Given the description of an element on the screen output the (x, y) to click on. 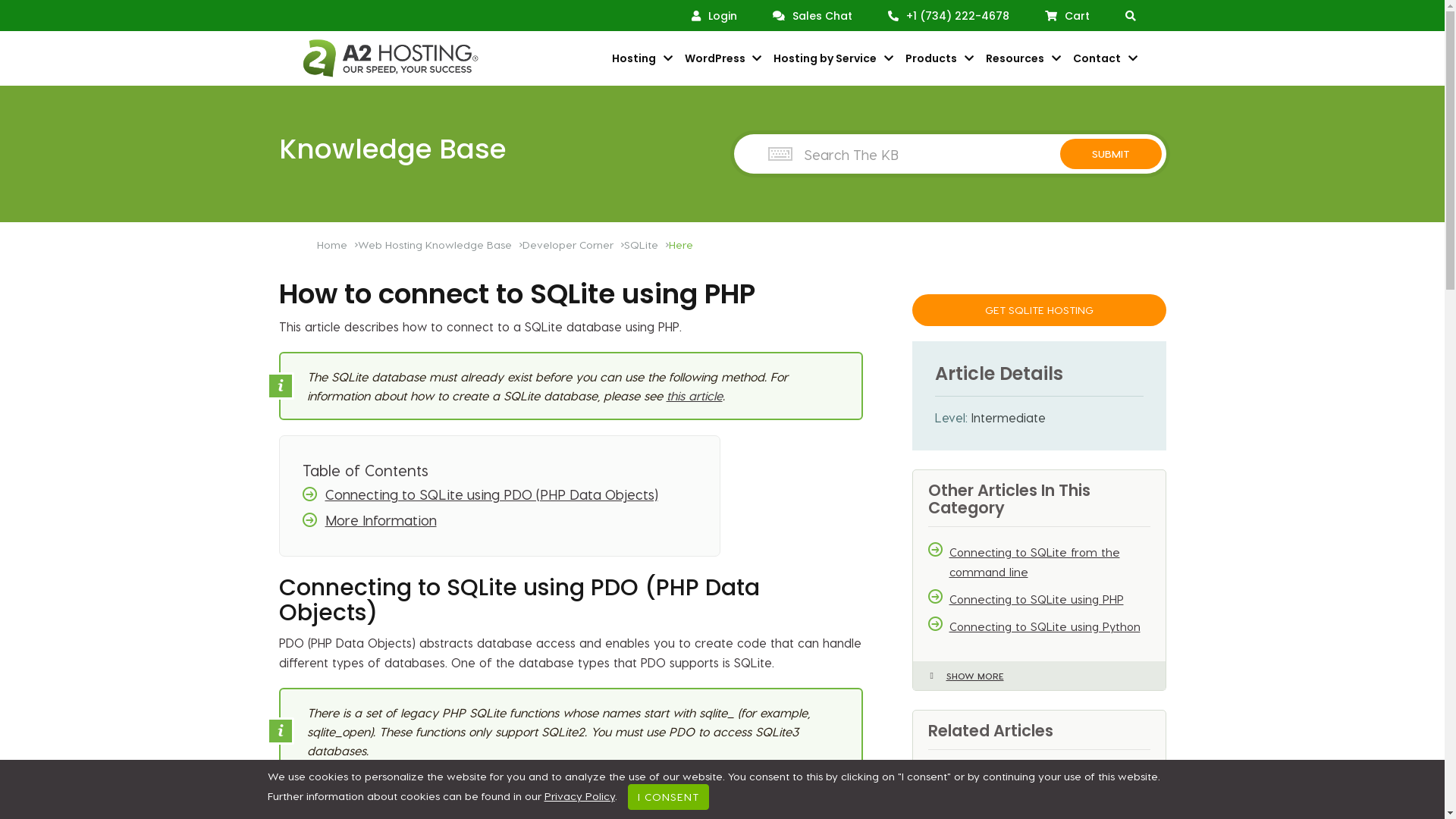
Connecting to SQLite from the command line Element type: text (1049, 784)
Sales Chat Element type: text (811, 15)
Privacy Policy Element type: text (579, 795)
Cart Element type: text (1066, 15)
Web Hosting Knowledge Base Element type: text (439, 244)
Connecting to SQLite using PDO (PHP Data Objects) Element type: text (510, 494)
Connecting to SQLite using PHP Element type: text (1049, 598)
Search on A2hosting Element type: hover (1130, 15)
Submit Element type: text (1110, 153)
SHOW MORE Element type: text (1039, 675)
Home Element type: text (336, 244)
Connecting to SQLite from the command line Element type: text (1049, 561)
GET SQLITE HOSTING Element type: text (1038, 310)
Connecting to SQLite using Python Element type: text (1049, 626)
More Information Element type: text (510, 520)
Developer Corner Element type: text (572, 244)
+1 (734) 222-4678 Element type: text (947, 15)
this article Element type: text (693, 395)
I CONSENT Element type: text (668, 796)
SQLite Element type: text (645, 244)
Login Element type: text (714, 15)
